Given the description of an element on the screen output the (x, y) to click on. 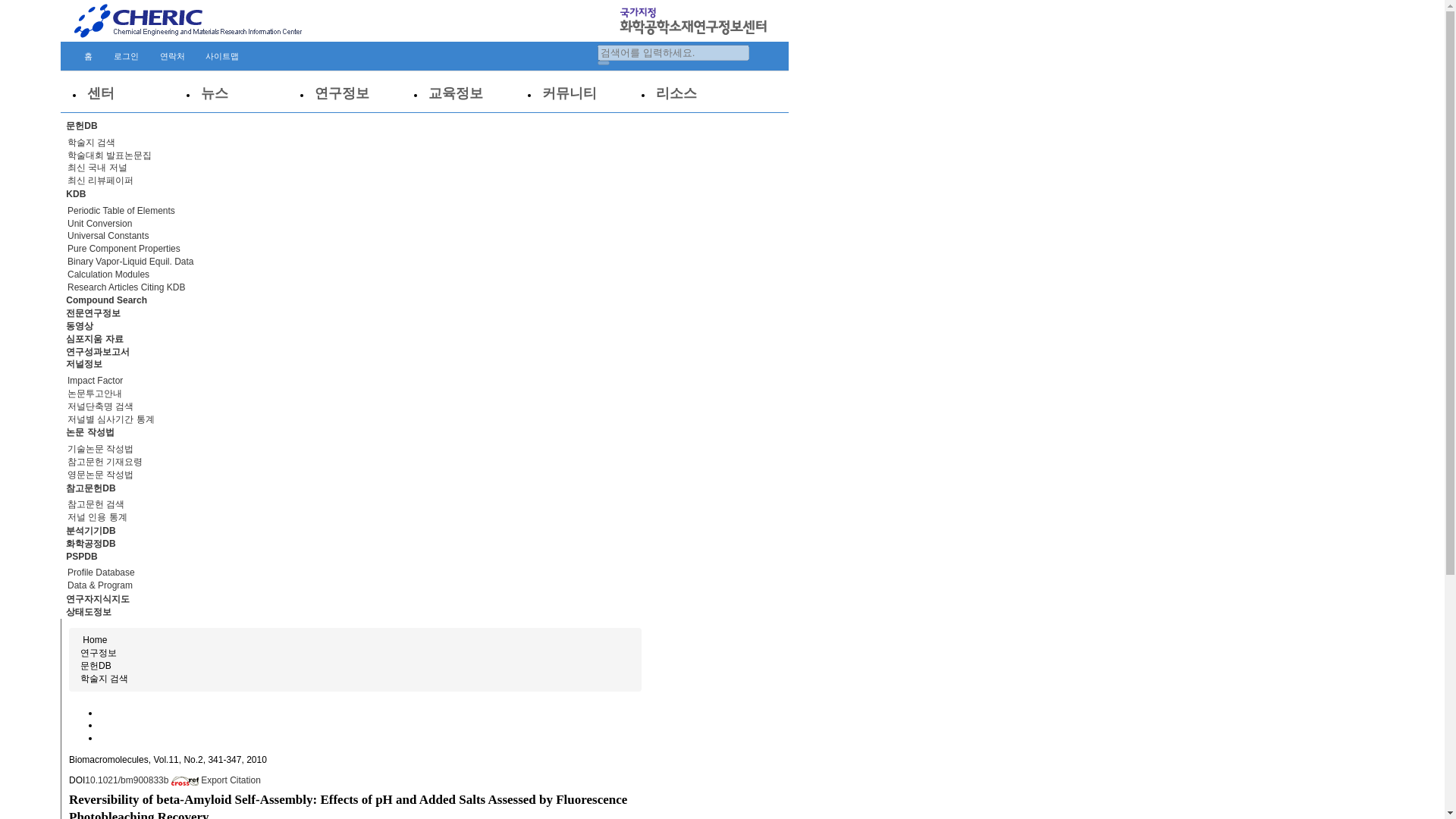
Full Text via CrossRef (142, 779)
